Given the description of an element on the screen output the (x, y) to click on. 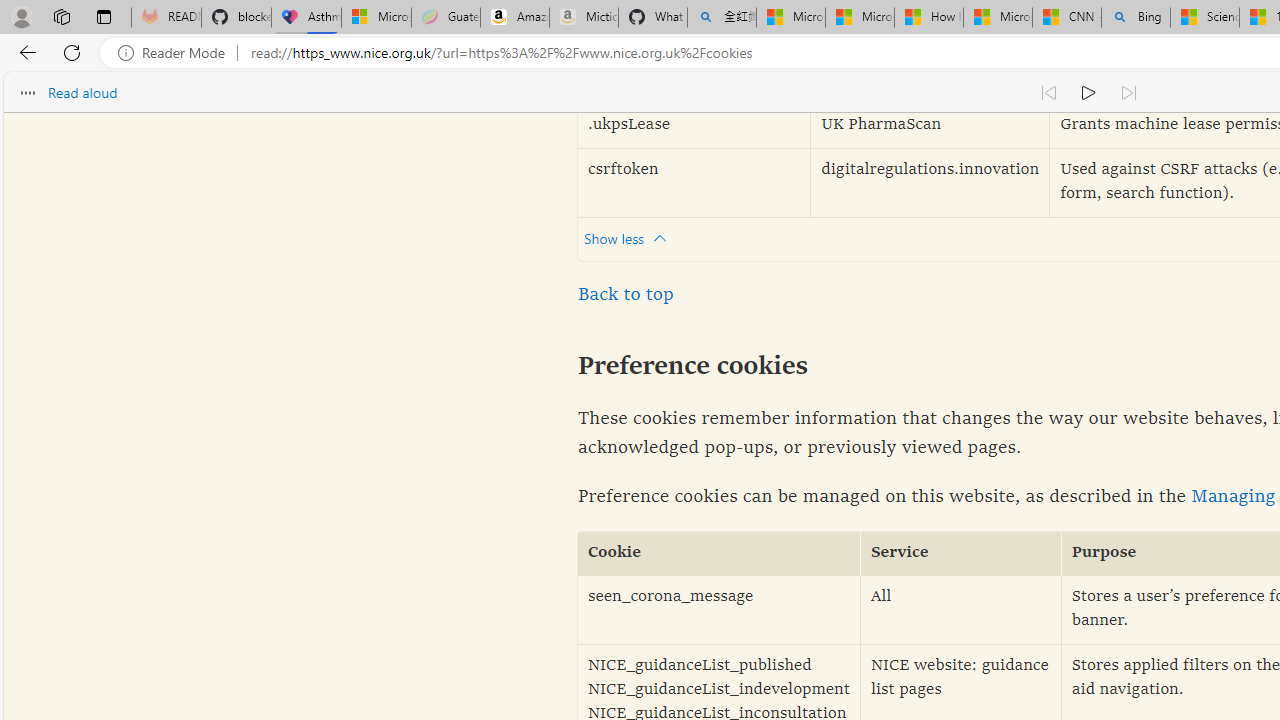
UK PharmaScan (929, 125)
